Given the description of an element on the screen output the (x, y) to click on. 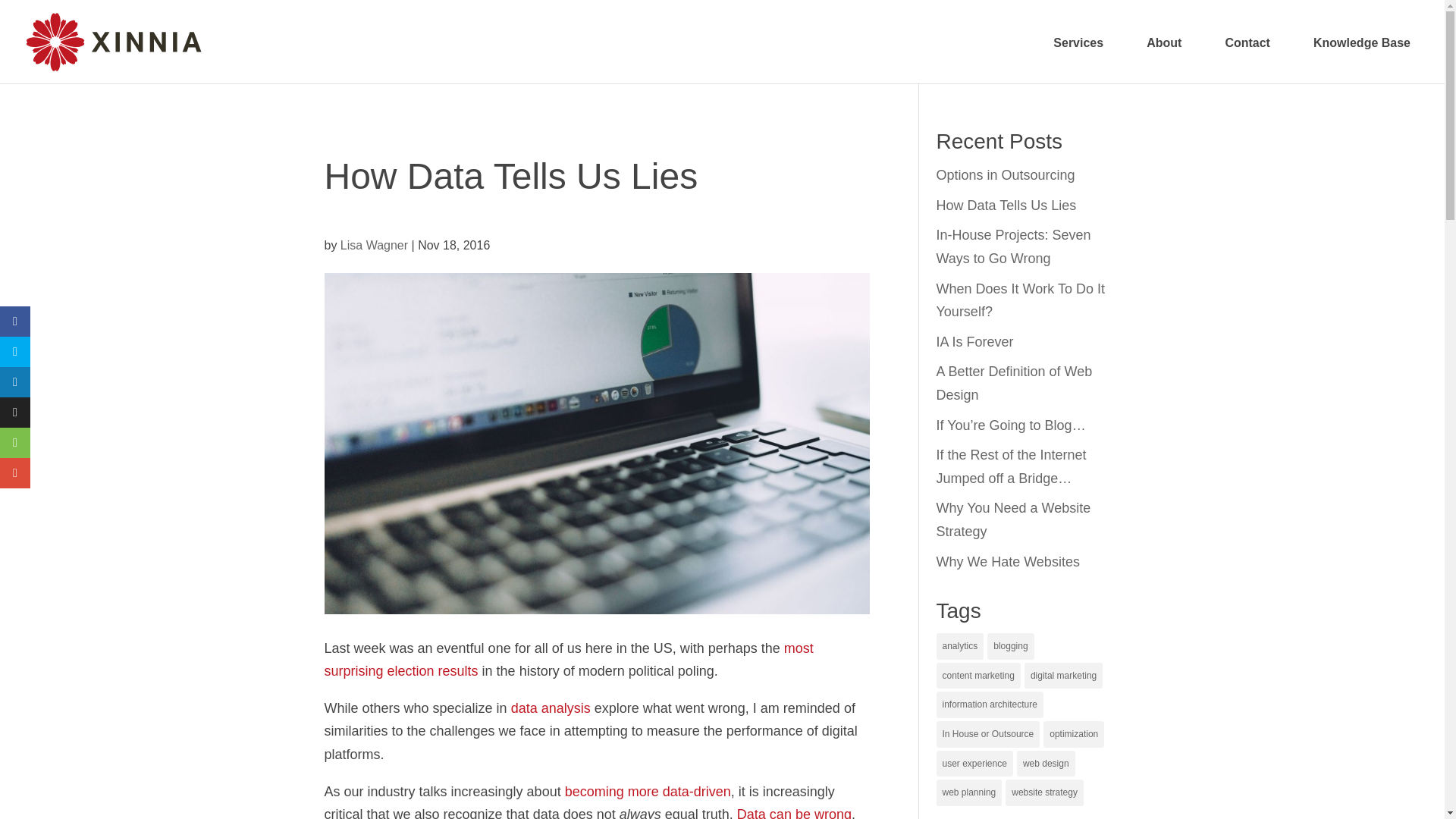
About (1163, 54)
optimization (1073, 734)
Posts by Lisa Wagner (373, 244)
How Data Tells Us Lies (1005, 205)
web design (1045, 764)
Contact (1246, 54)
user experience (973, 764)
content marketing (978, 675)
digital marketing (1063, 675)
In-House Projects: Seven Ways to Go Wrong (1013, 246)
